Given the description of an element on the screen output the (x, y) to click on. 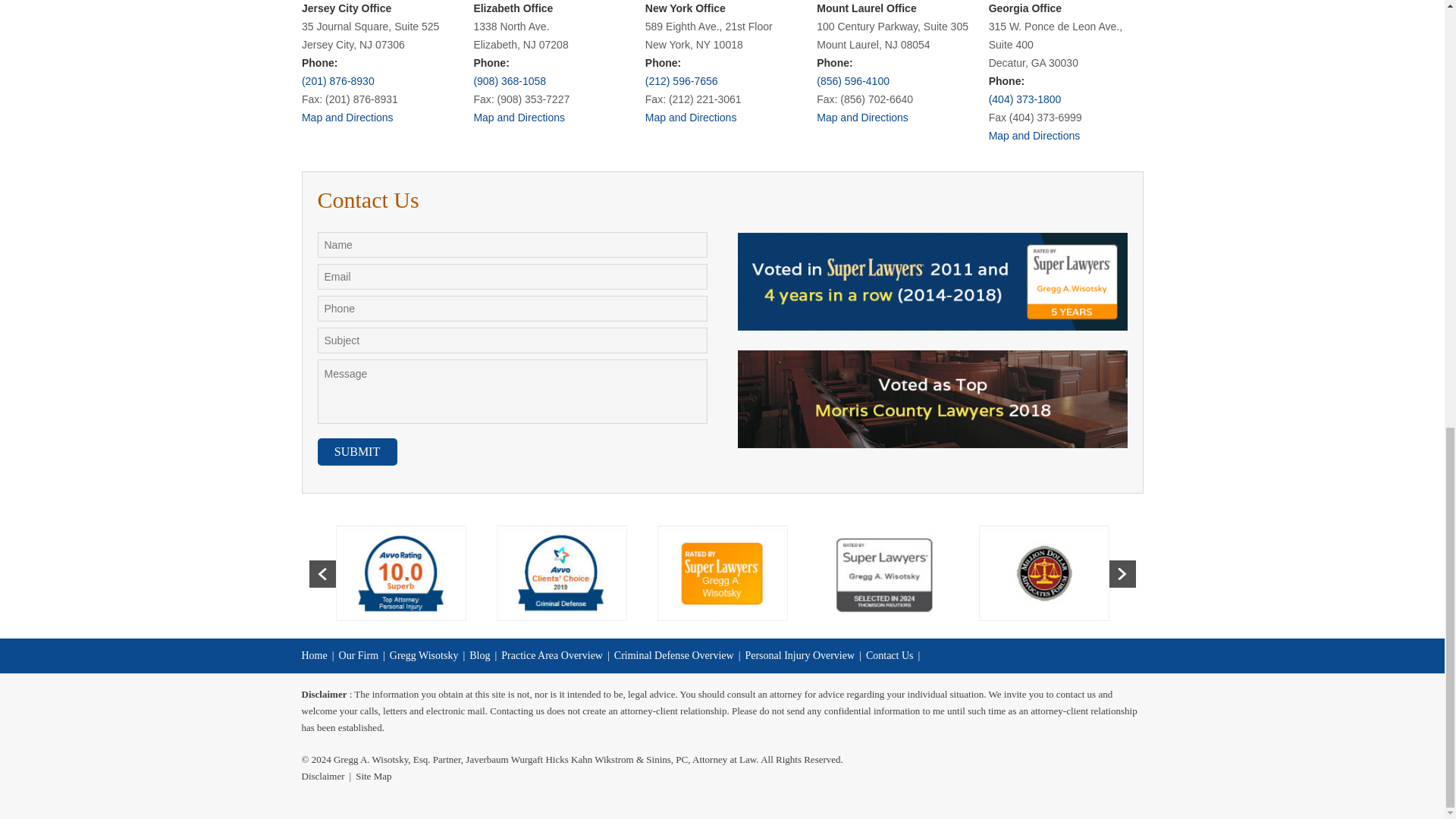
Submit (356, 452)
